Given the description of an element on the screen output the (x, y) to click on. 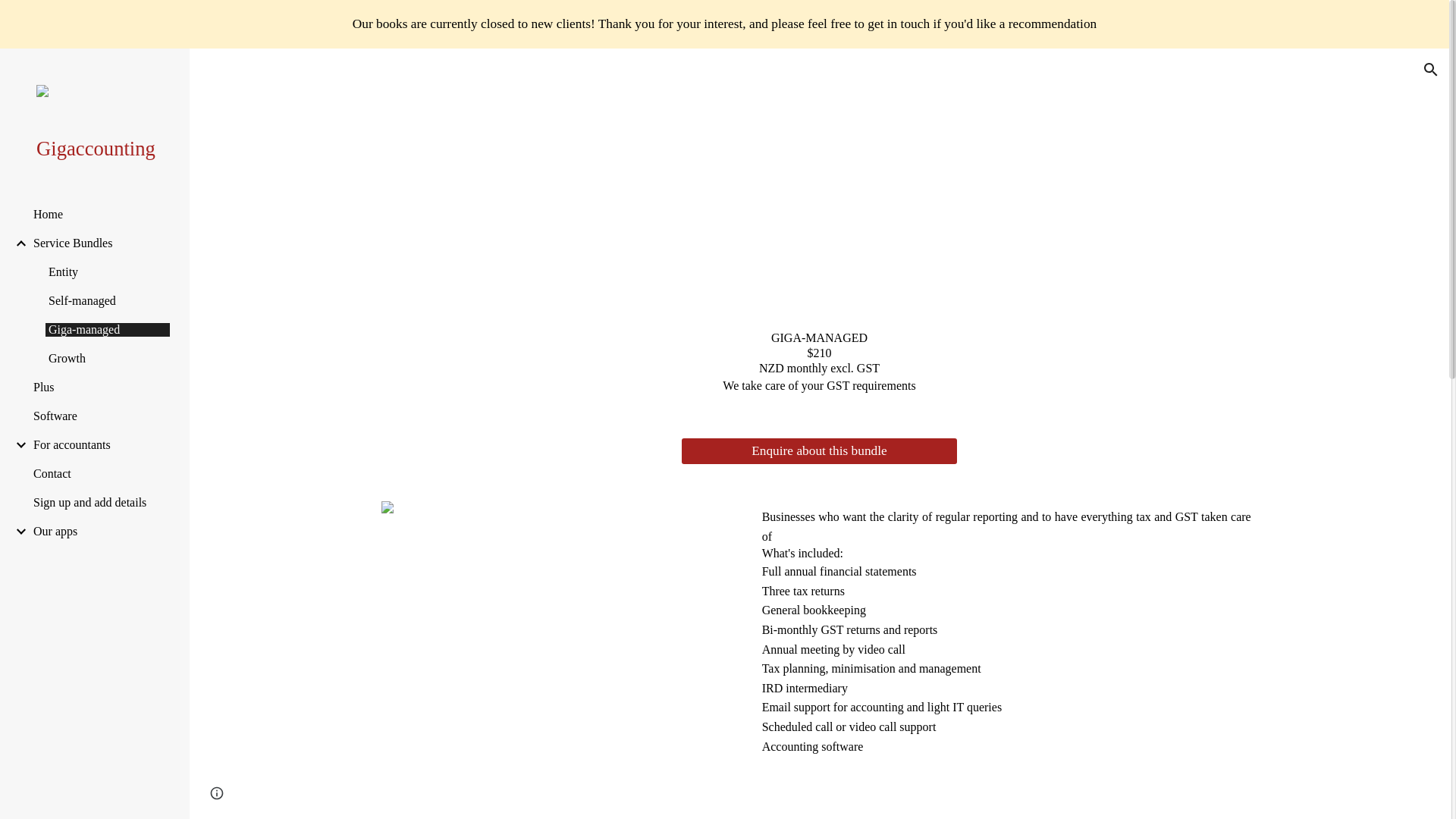
Entity (107, 272)
Self-managed (107, 300)
Growth (107, 358)
Contact (99, 473)
Gigaccounting (100, 148)
Home (99, 214)
Our apps (99, 531)
Giga-managed (107, 329)
Software (99, 416)
Service Bundles (99, 243)
Sign up and add details (99, 502)
For accountants (99, 445)
Plus (99, 386)
Enquire about this bundle (818, 451)
